Given the description of an element on the screen output the (x, y) to click on. 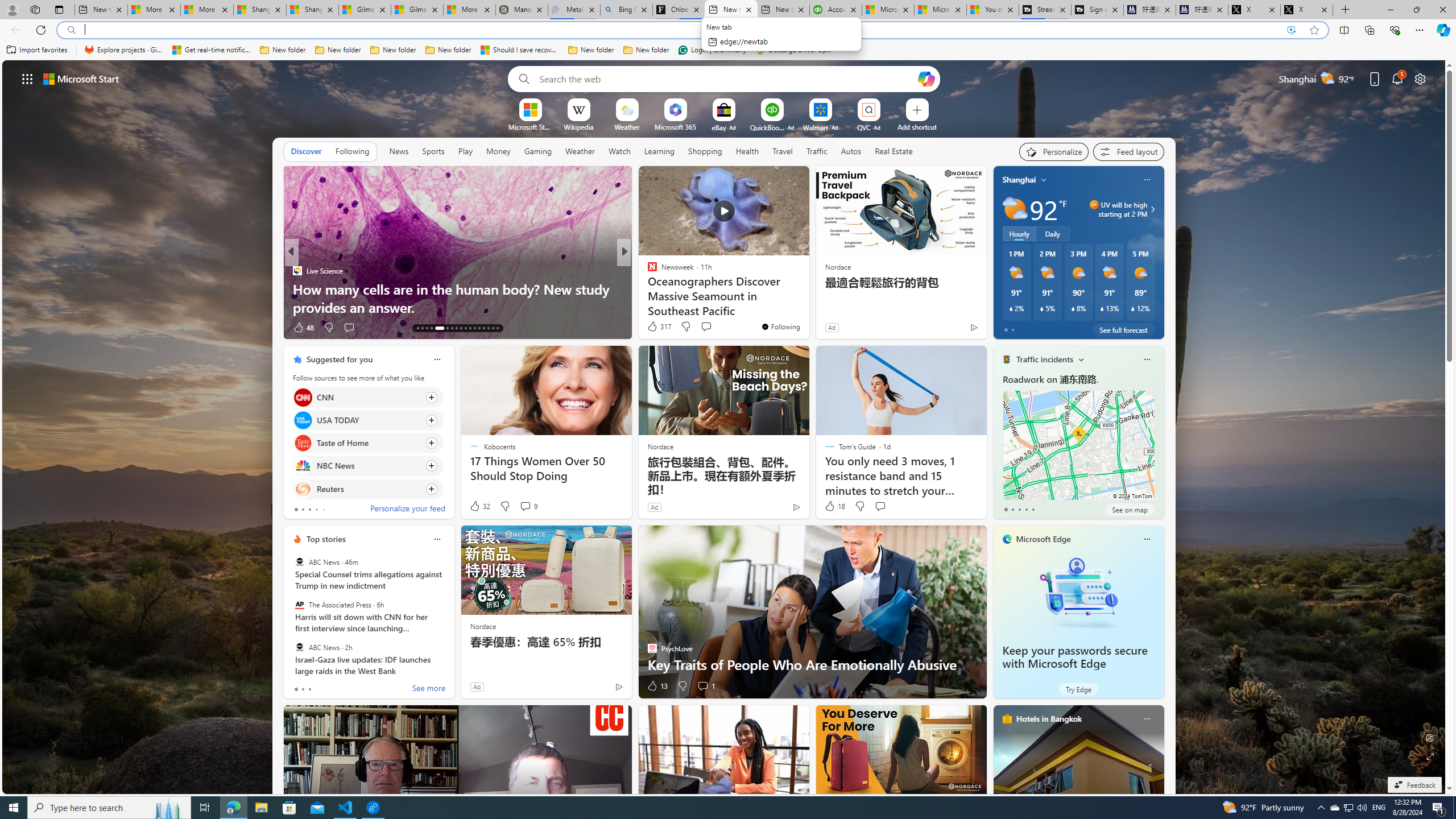
Click to follow source Taste of Home (367, 442)
Favorites bar (728, 49)
Forge of Empires (668, 288)
Try Edge (1078, 689)
Traffic (816, 151)
Expand background (1430, 756)
